Given the description of an element on the screen output the (x, y) to click on. 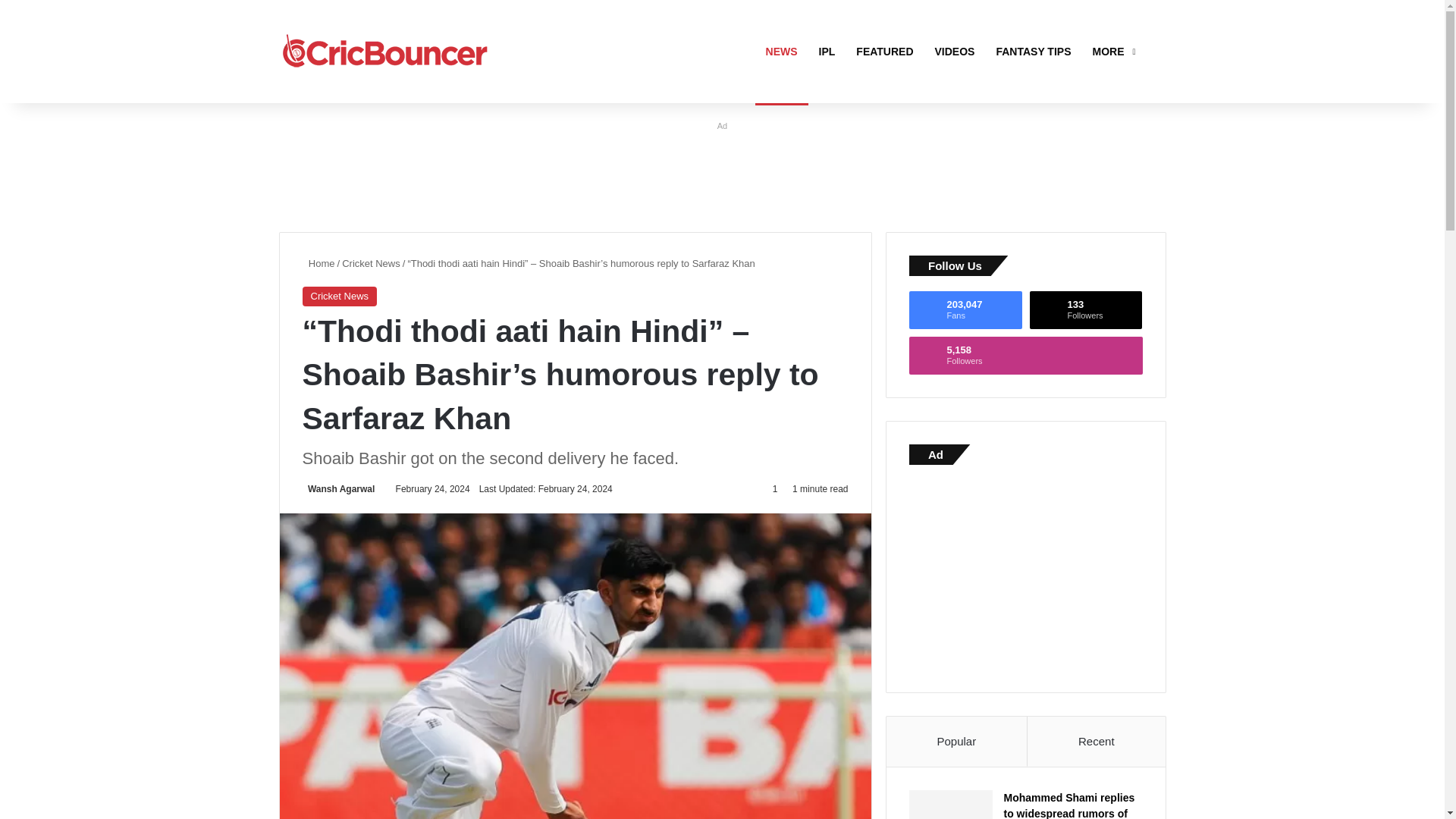
Wansh Agarwal (337, 489)
VIDEOS (954, 51)
Cricket News (339, 296)
Home (317, 263)
Cricket News (371, 263)
Wansh Agarwal (337, 489)
NEWS (781, 51)
MORE (1111, 51)
CricBouncer (965, 310)
Advertisement (385, 51)
Search for (1085, 310)
